Given the description of an element on the screen output the (x, y) to click on. 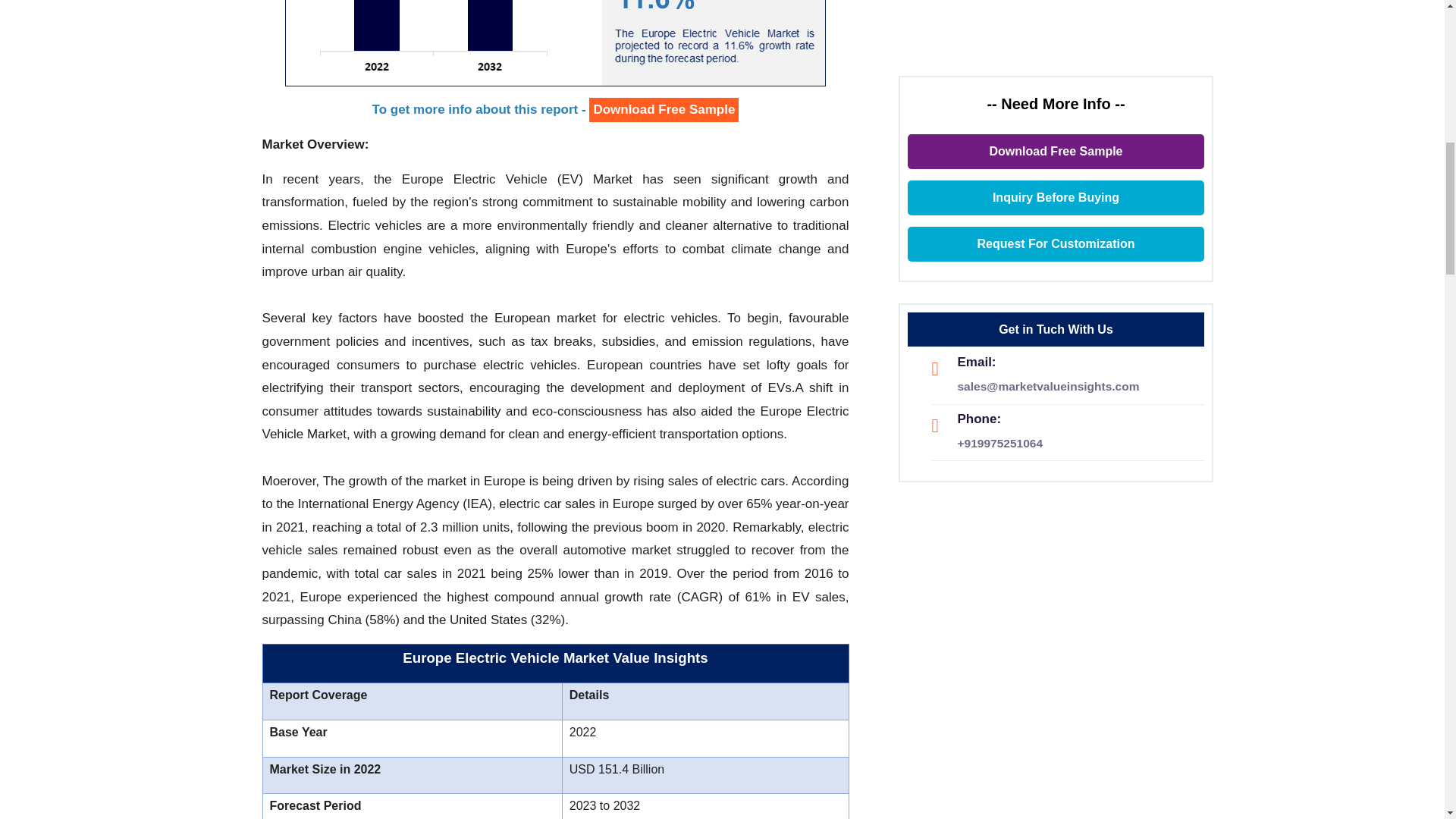
Download Free Sample (663, 109)
